Given the description of an element on the screen output the (x, y) to click on. 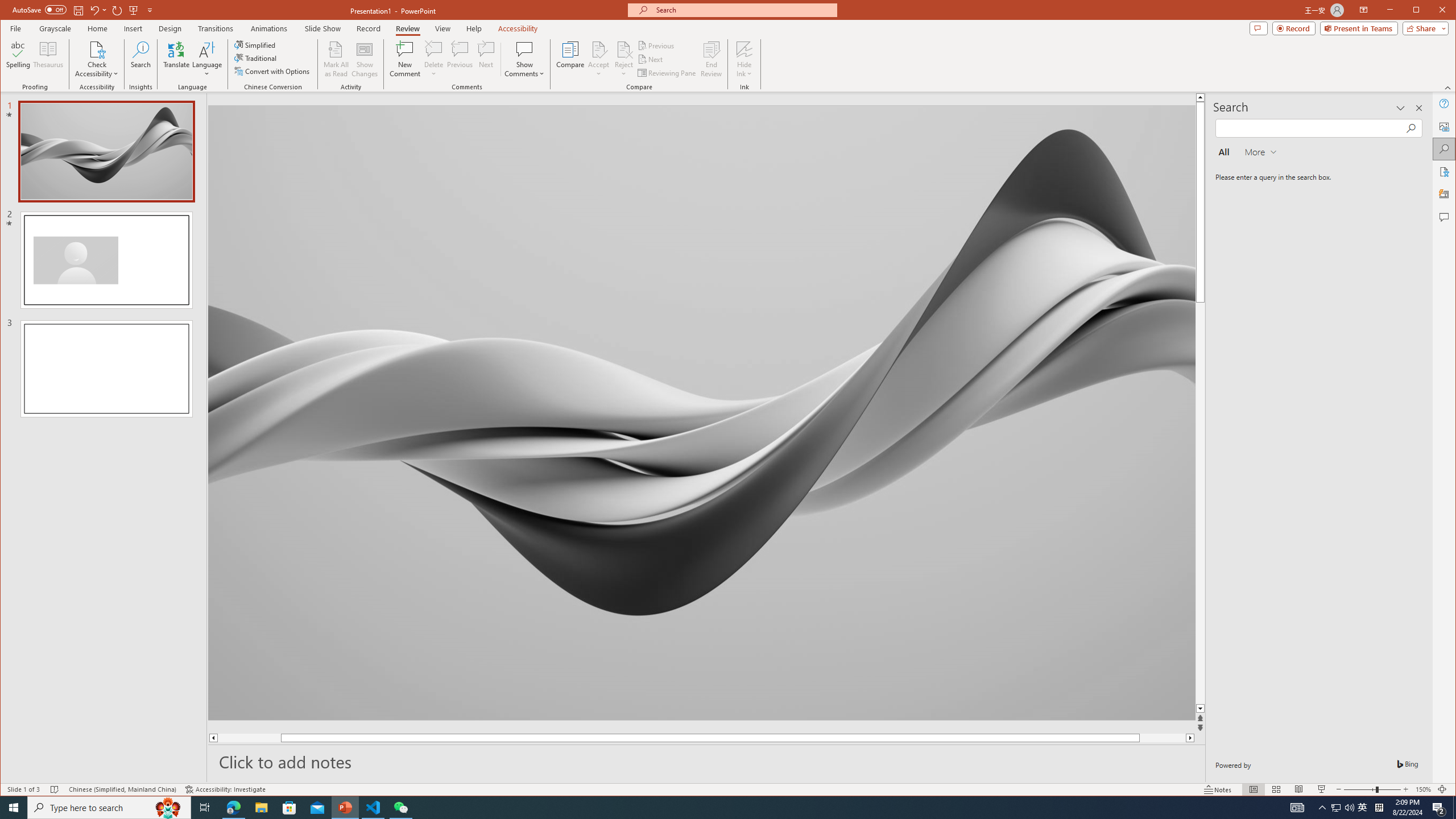
Reviewing Pane (667, 72)
WeChat - 1 running window (400, 807)
